Given the description of an element on the screen output the (x, y) to click on. 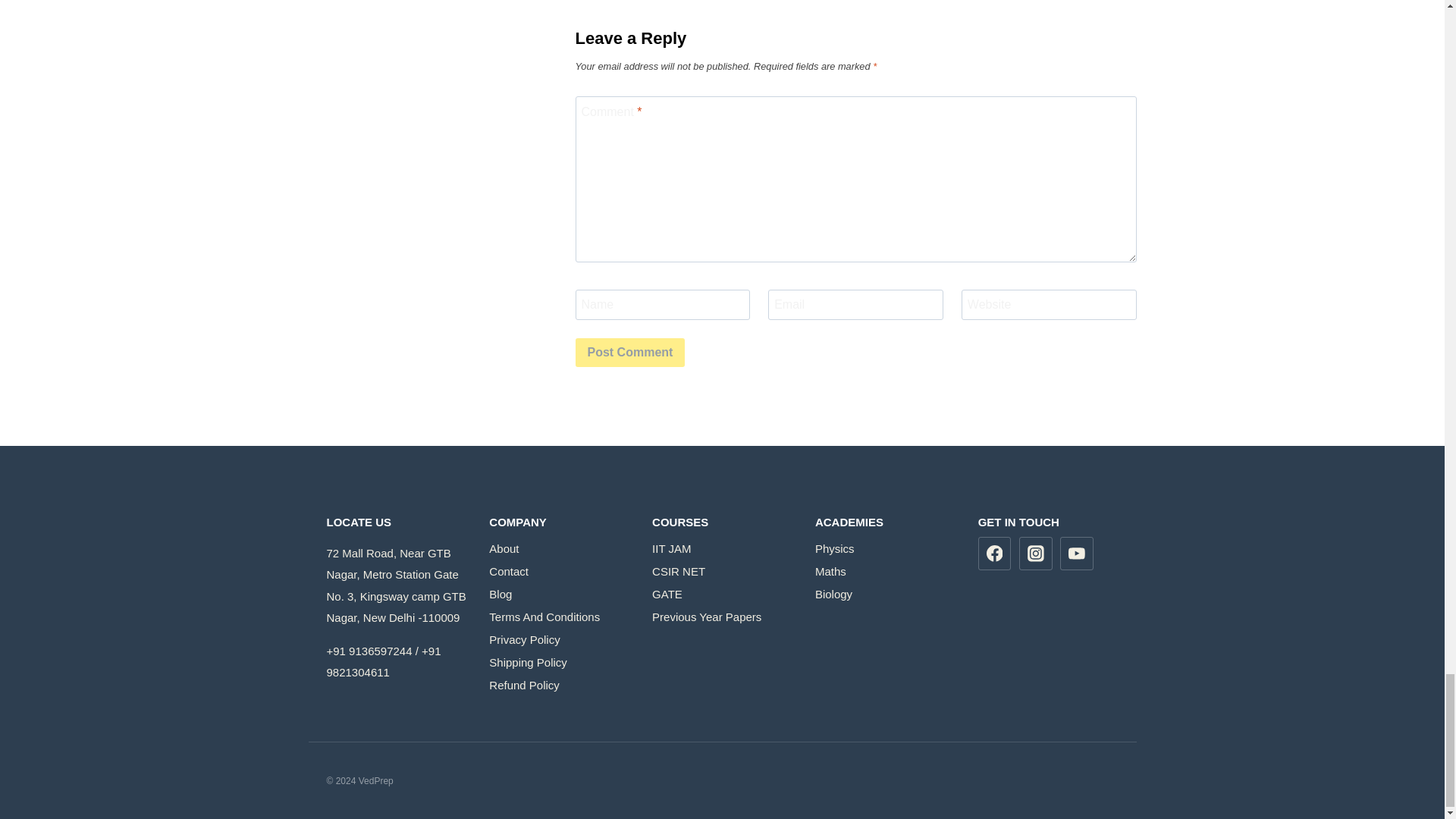
Post Comment (629, 352)
Post Comment (629, 352)
